Given the description of an element on the screen output the (x, y) to click on. 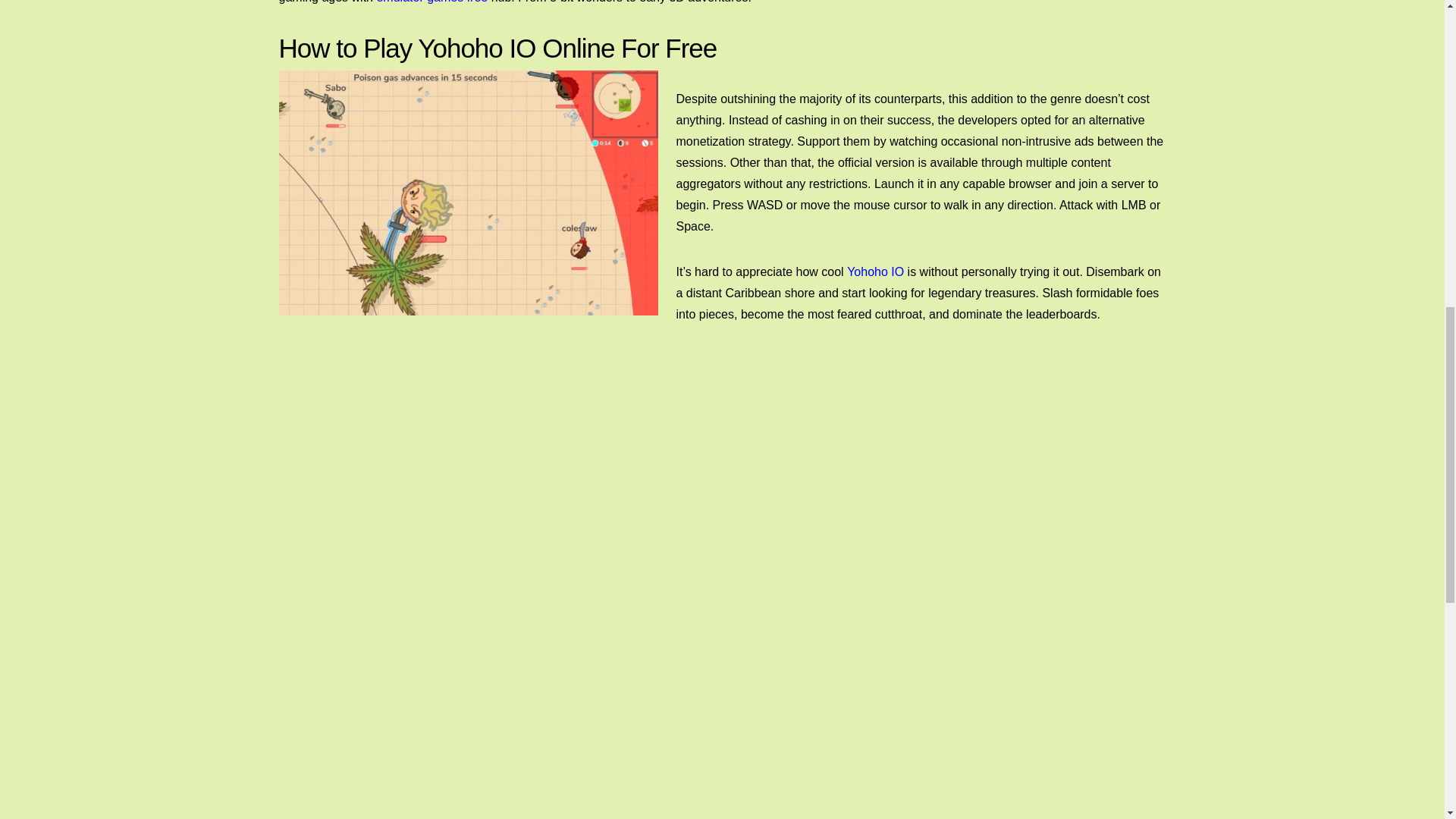
Yohoho IO (875, 271)
emulator games free (431, 4)
